Given the description of an element on the screen output the (x, y) to click on. 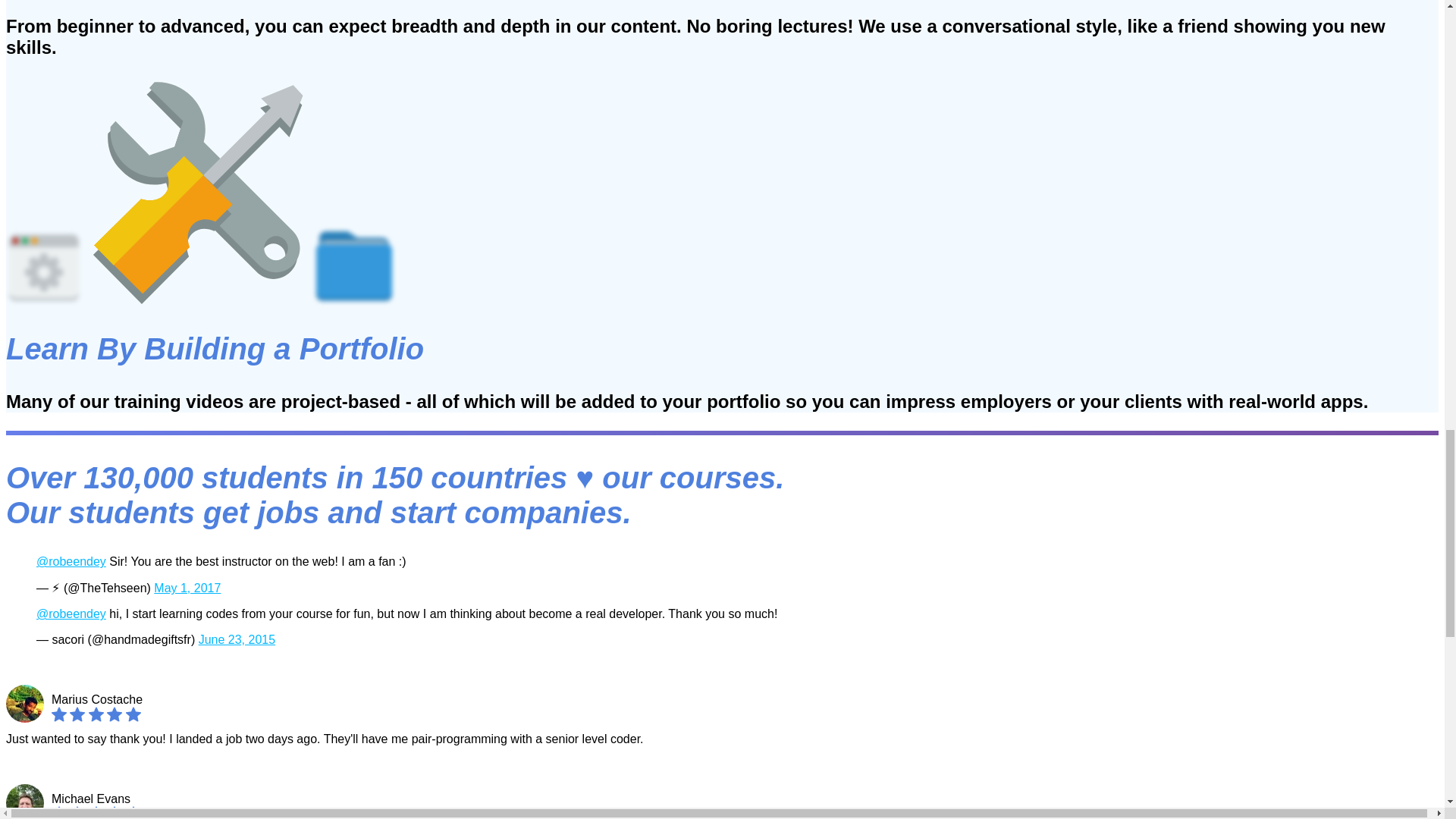
May 1, 2017 (187, 587)
June 23, 2015 (236, 639)
